Given the description of an element on the screen output the (x, y) to click on. 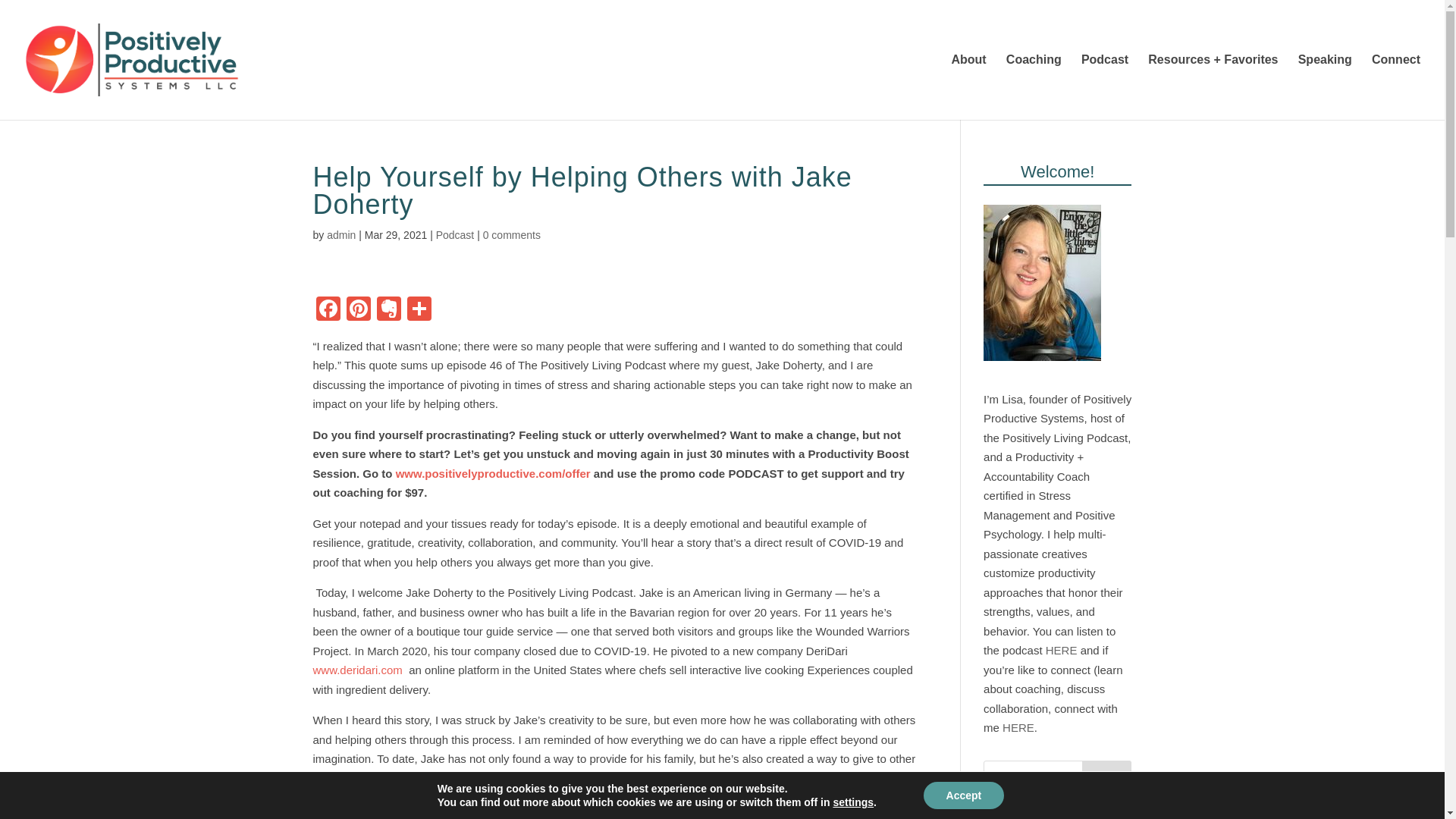
admin (340, 234)
Podcast (454, 234)
Evernote (387, 309)
Facebook (327, 309)
Share (418, 309)
0 comments (511, 234)
Posts by admin (340, 234)
Pinterest (357, 309)
Evernote (387, 309)
Facebook (327, 309)
Search (1106, 775)
Pinterest (357, 309)
www.deridari.com (357, 669)
